Given the description of an element on the screen output the (x, y) to click on. 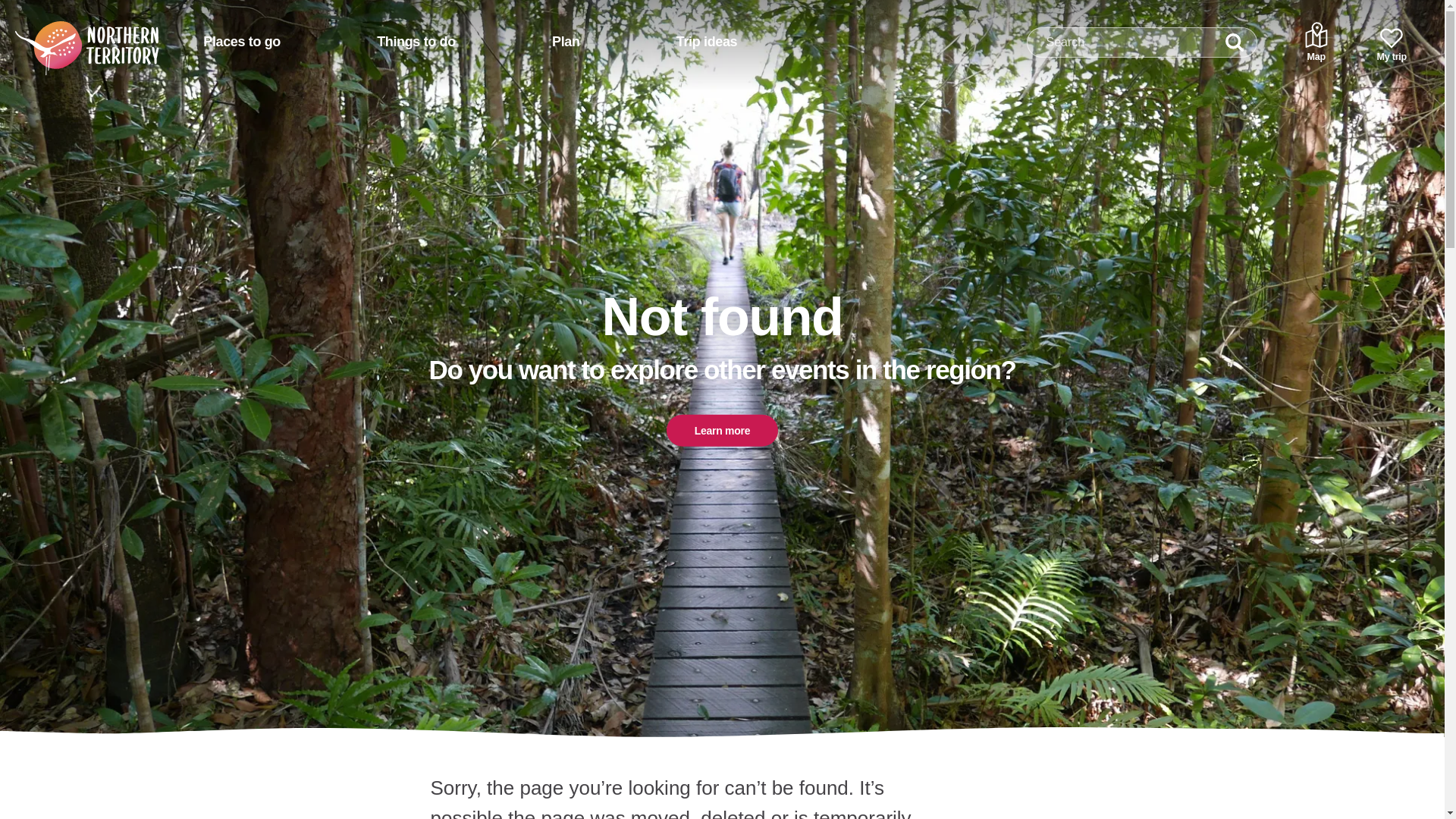
Search (1234, 42)
Home (67, 36)
Places to go (241, 42)
Things to do (416, 42)
